Given the description of an element on the screen output the (x, y) to click on. 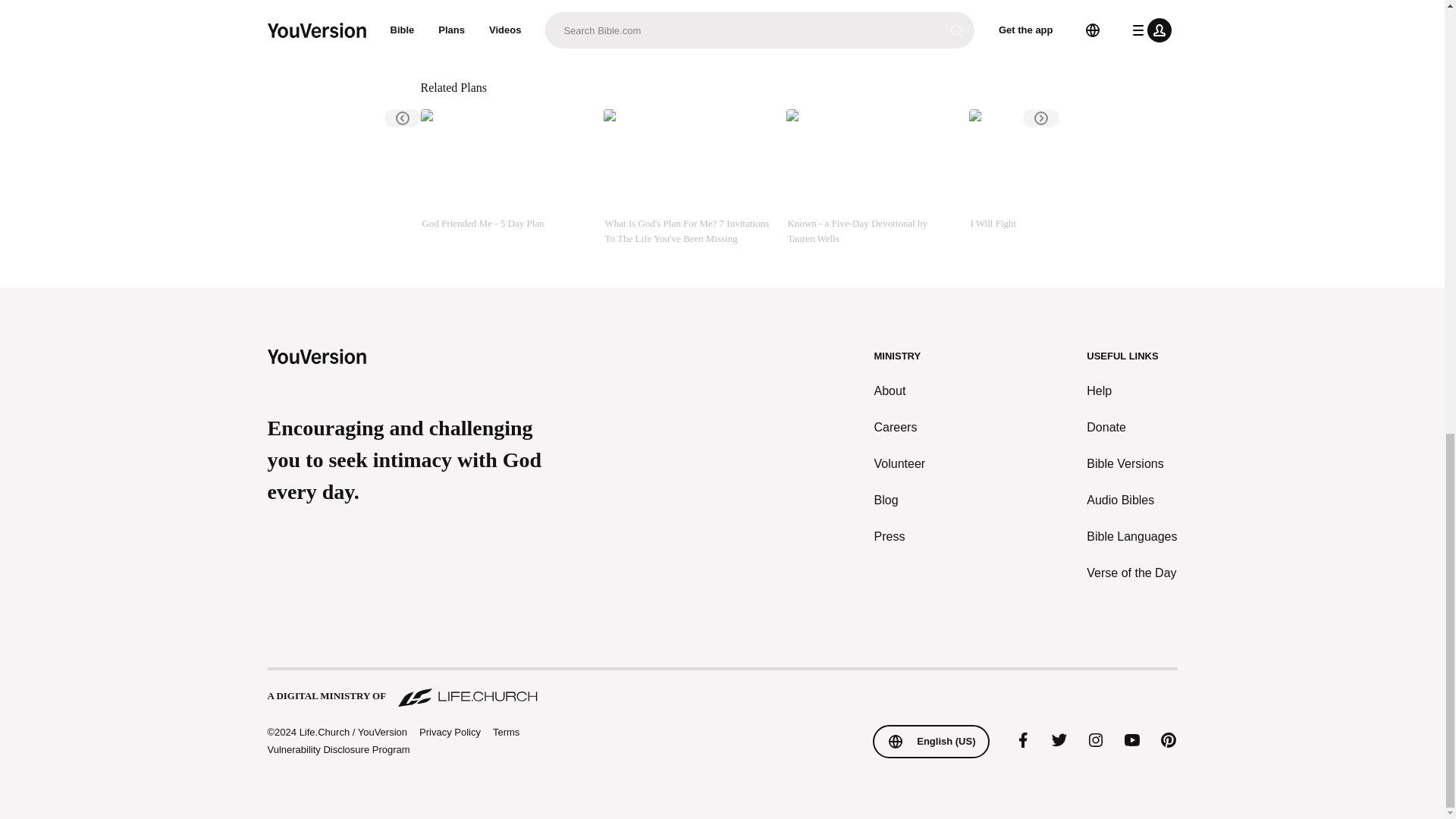
Help (1131, 391)
Privacy Policy (449, 732)
Bible Languages (1131, 536)
About (900, 391)
Audio Bibles (1131, 500)
Volunteer (900, 464)
God Friended Me - 5 Day Plan (505, 176)
Careers (900, 427)
About The Publisher (514, 30)
